Given the description of an element on the screen output the (x, y) to click on. 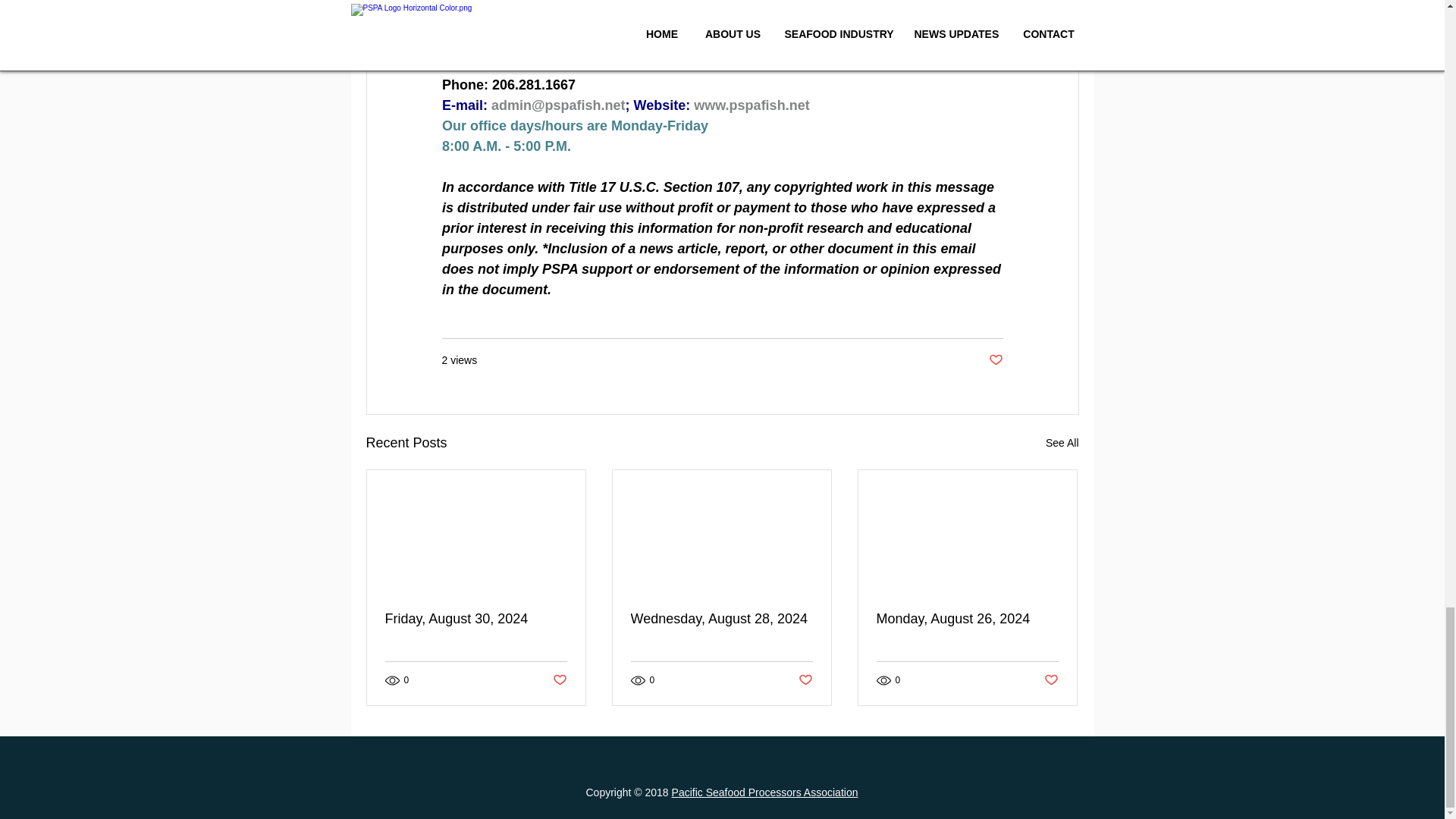
Post not marked as liked (804, 679)
Post not marked as liked (995, 360)
Post not marked as liked (1050, 679)
Wednesday, August 28, 2024 (721, 618)
See All (1061, 443)
Post not marked as liked (558, 679)
Monday, August 26, 2024 (967, 618)
Friday, August 30, 2024 (476, 618)
www.pspafish.net (751, 105)
Pacific Seafood Processors Association (765, 792)
